Given the description of an element on the screen output the (x, y) to click on. 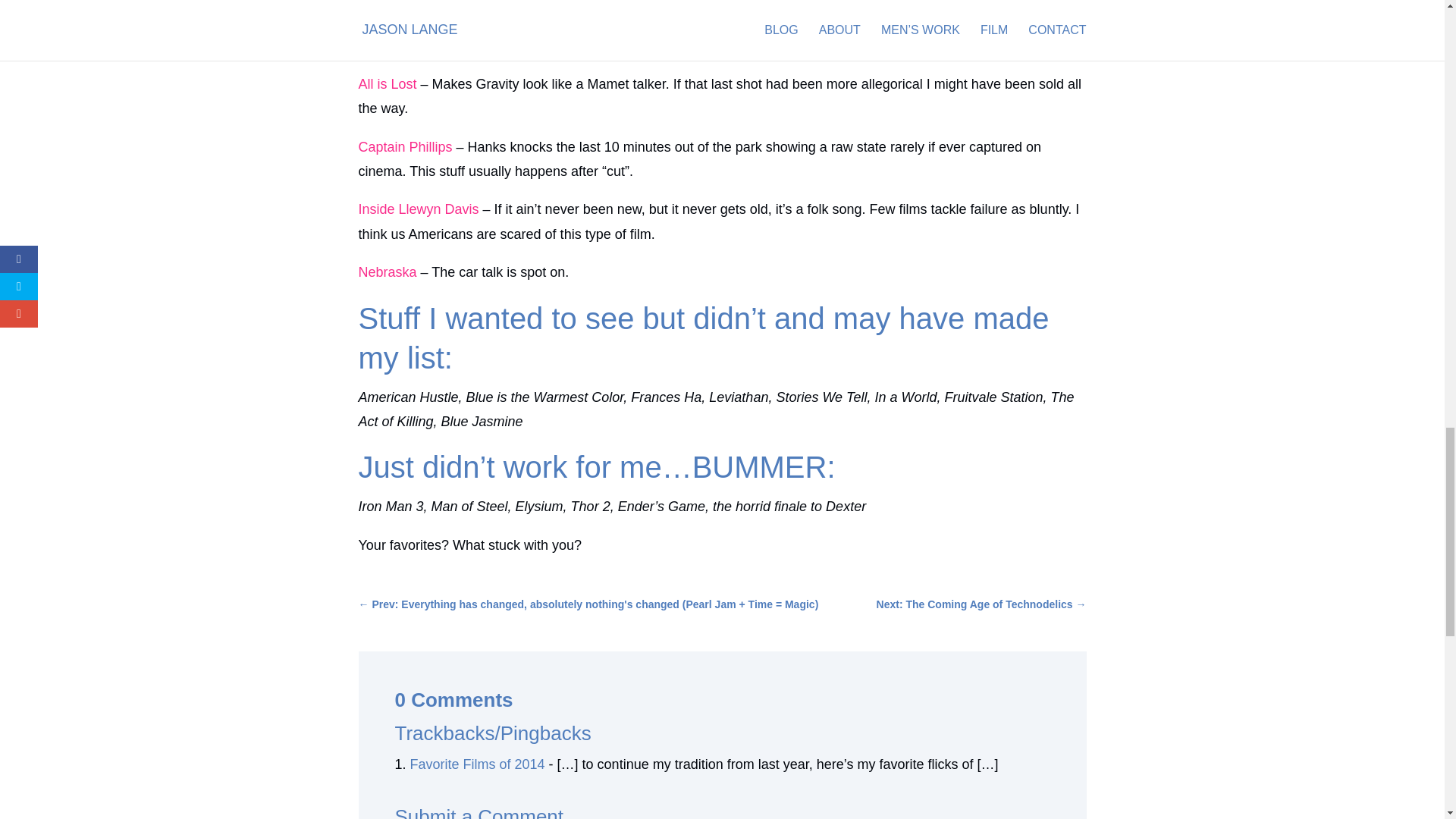
Favorite Films of 2014 (477, 764)
Inside Llewyn Davis (419, 209)
Nebraska (387, 272)
Grand Theft Auto V (416, 20)
All is Lost (387, 83)
Captain Phillips (404, 146)
